Given the description of an element on the screen output the (x, y) to click on. 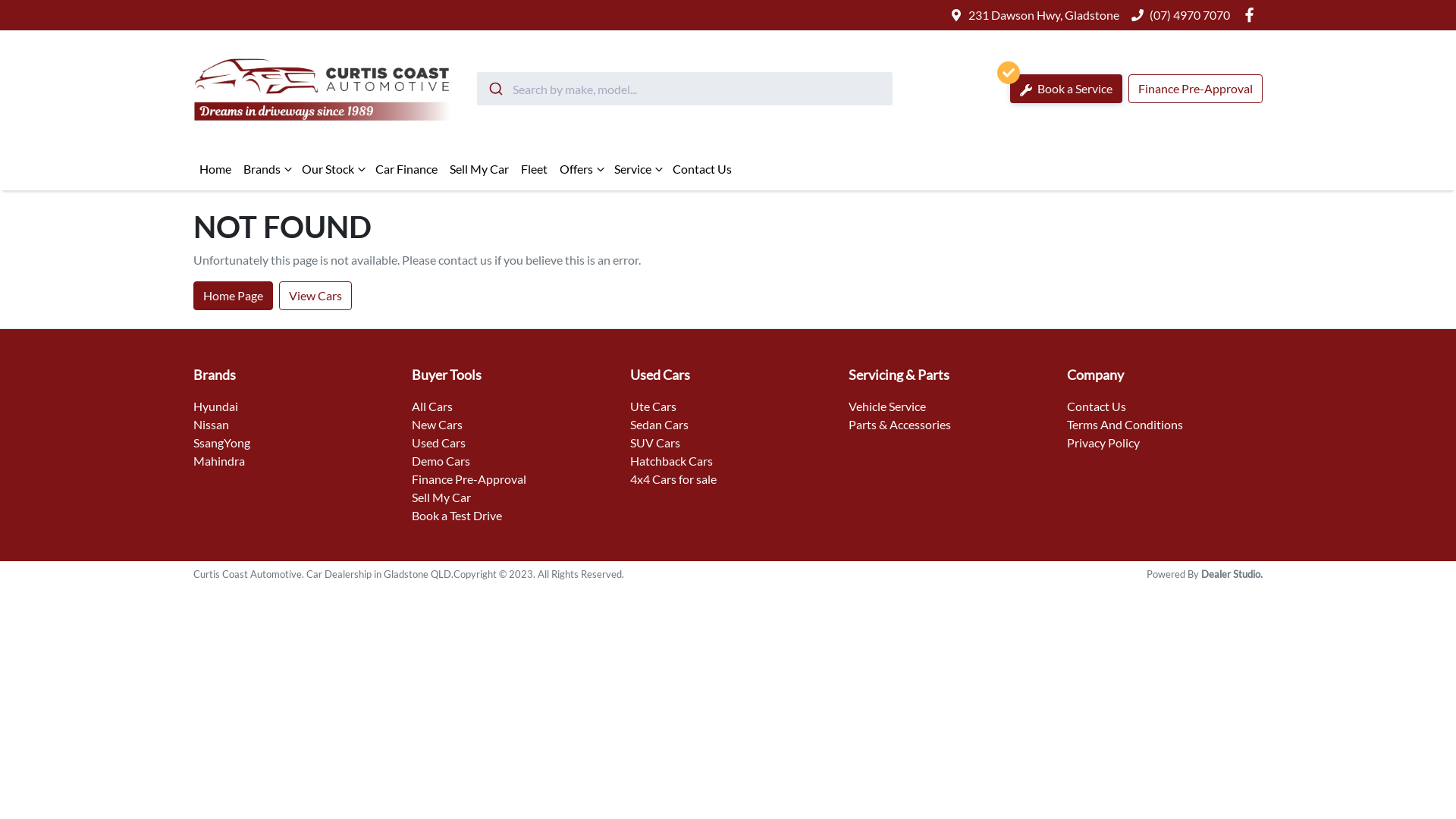
Contact Us Element type: text (1096, 405)
Vehicle Service Element type: text (886, 405)
Sedan Cars Element type: text (659, 424)
Home Element type: text (215, 168)
231 Dawson Hwy, Gladstone Element type: text (1043, 14)
Book a Test Drive Element type: text (456, 515)
Finance Pre-Approval Element type: text (468, 478)
SsangYong Element type: text (221, 442)
Submit Element type: hover (494, 88)
Demo Cars Element type: text (440, 460)
Service Element type: text (637, 168)
Hyundai Element type: text (215, 405)
4x4 Cars for sale Element type: text (673, 478)
Contact Us Element type: text (701, 168)
New Cars Element type: text (436, 424)
Ute Cars Element type: text (653, 405)
Sell My Car Element type: text (478, 168)
Parts & Accessories Element type: text (899, 424)
Book a Service Element type: text (1066, 88)
Our Stock Element type: text (332, 168)
Used Cars Element type: text (438, 442)
Home Page Element type: text (233, 295)
Fleet Element type: text (533, 168)
(07) 4970 7070 Element type: text (1189, 14)
Privacy Policy Element type: text (1102, 442)
Terms And Conditions Element type: text (1124, 424)
All Cars Element type: text (431, 405)
Finance Pre-Approval Element type: text (1195, 88)
SUV Cars Element type: text (655, 442)
Brands Element type: text (266, 168)
Dealer Studio. Element type: text (1231, 573)
Hatchback Cars Element type: text (671, 460)
Mahindra Element type: text (218, 460)
Car Finance Element type: text (406, 168)
Nissan Element type: text (211, 424)
Offers Element type: text (580, 168)
Sell My Car Element type: text (440, 496)
View Cars Element type: text (315, 295)
